Given the description of an element on the screen output the (x, y) to click on. 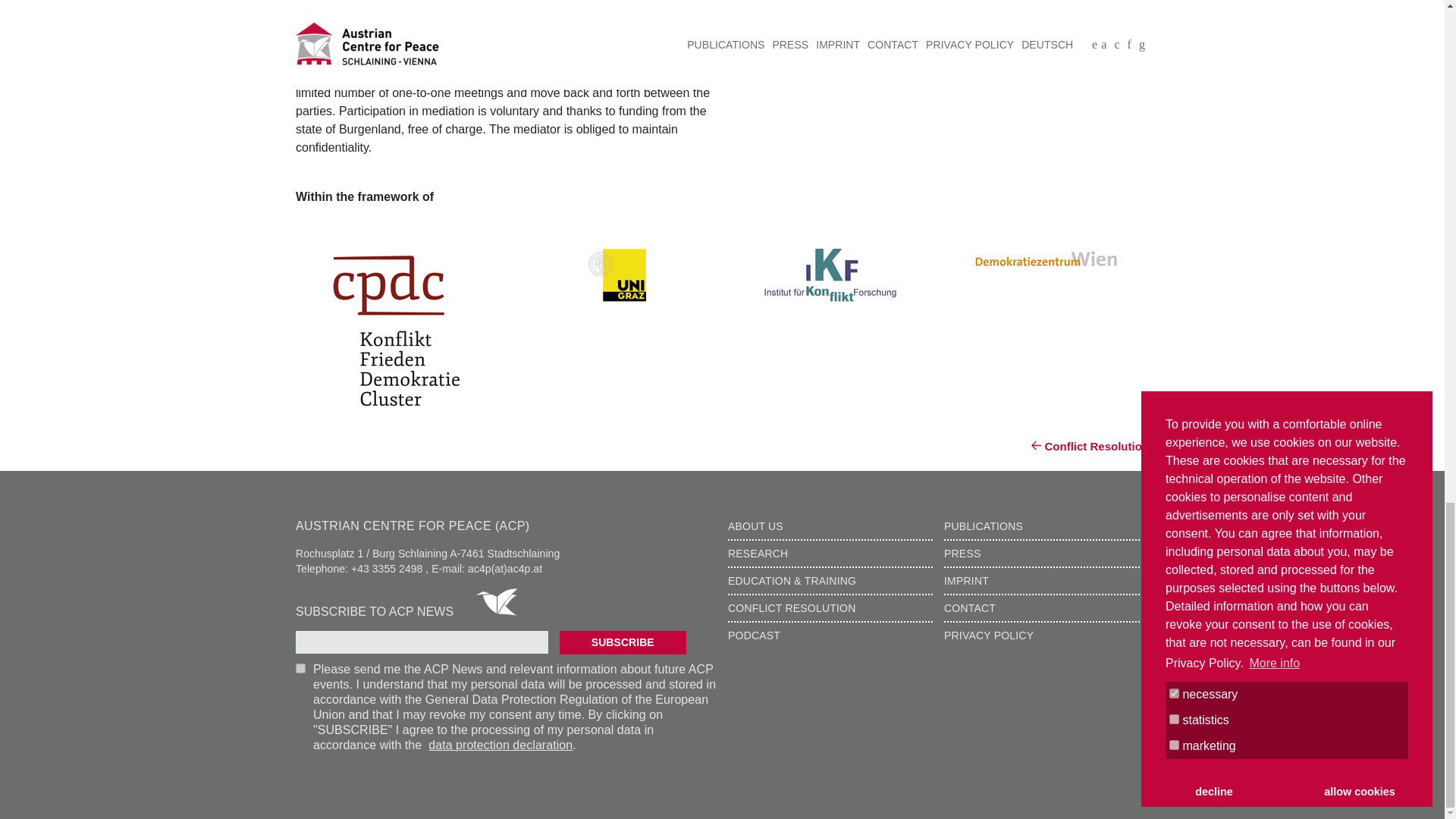
on (300, 668)
